Given the description of an element on the screen output the (x, y) to click on. 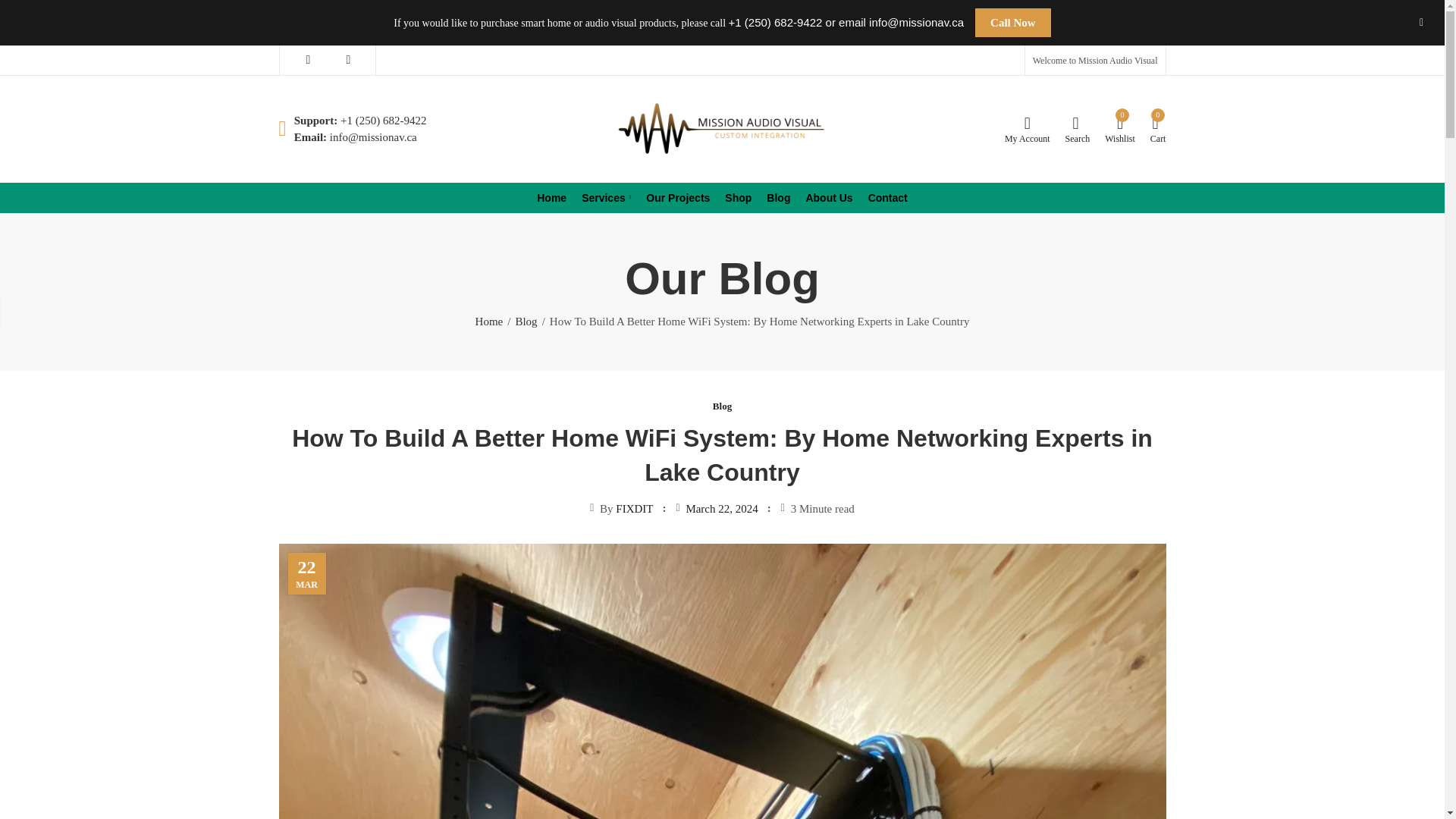
Contact (887, 197)
Blog (1120, 128)
Blog (777, 197)
March 22, 2024 (526, 321)
Shop (721, 508)
My Account (737, 197)
Blog (1026, 128)
About Us (722, 405)
Our Projects (828, 197)
